Given the description of an element on the screen output the (x, y) to click on. 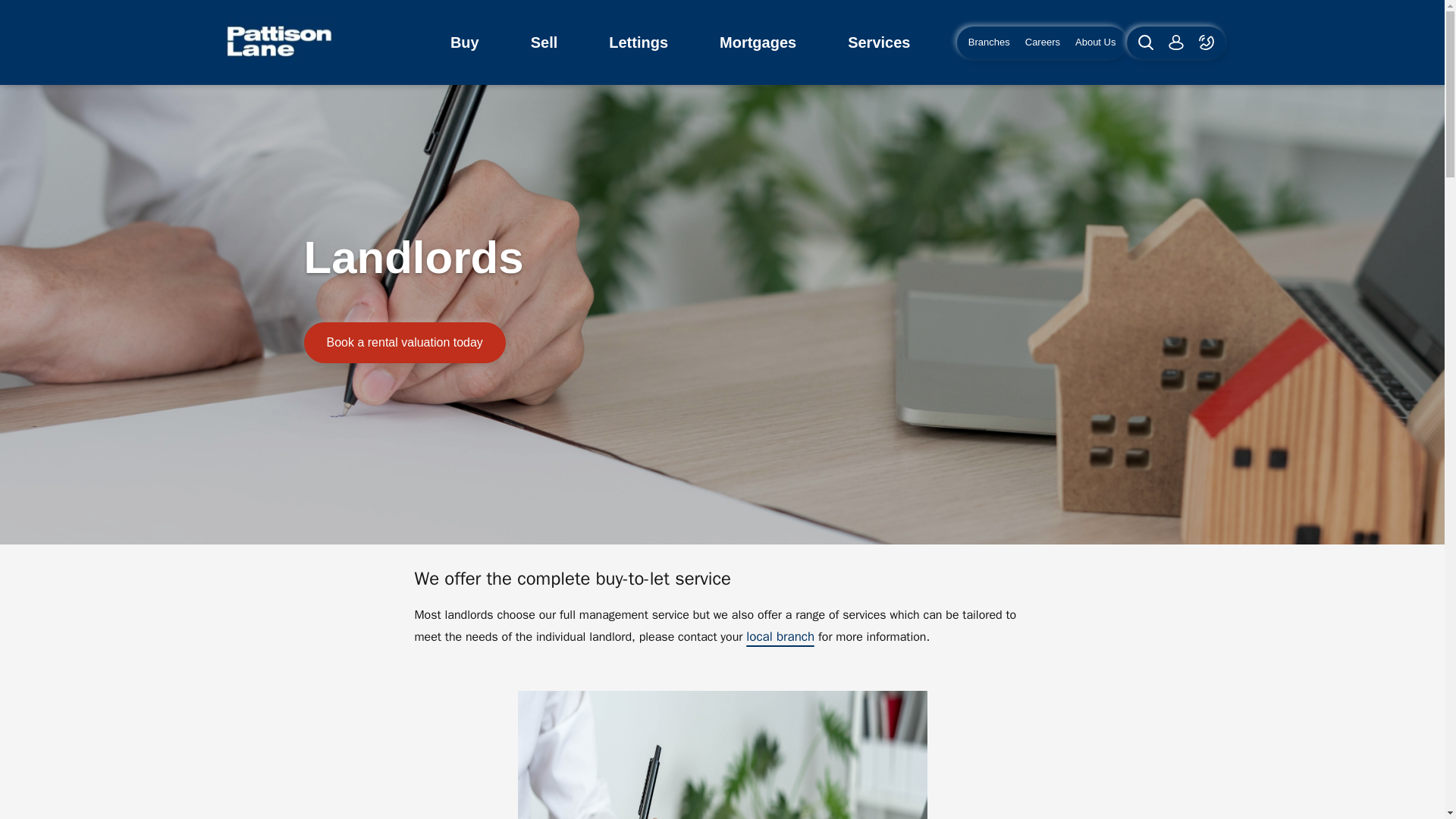
Services (879, 42)
Sell (544, 42)
Branches (986, 42)
Careers (1042, 42)
Buy (465, 42)
Mortgages (758, 42)
About Us (1096, 42)
